Given the description of an element on the screen output the (x, y) to click on. 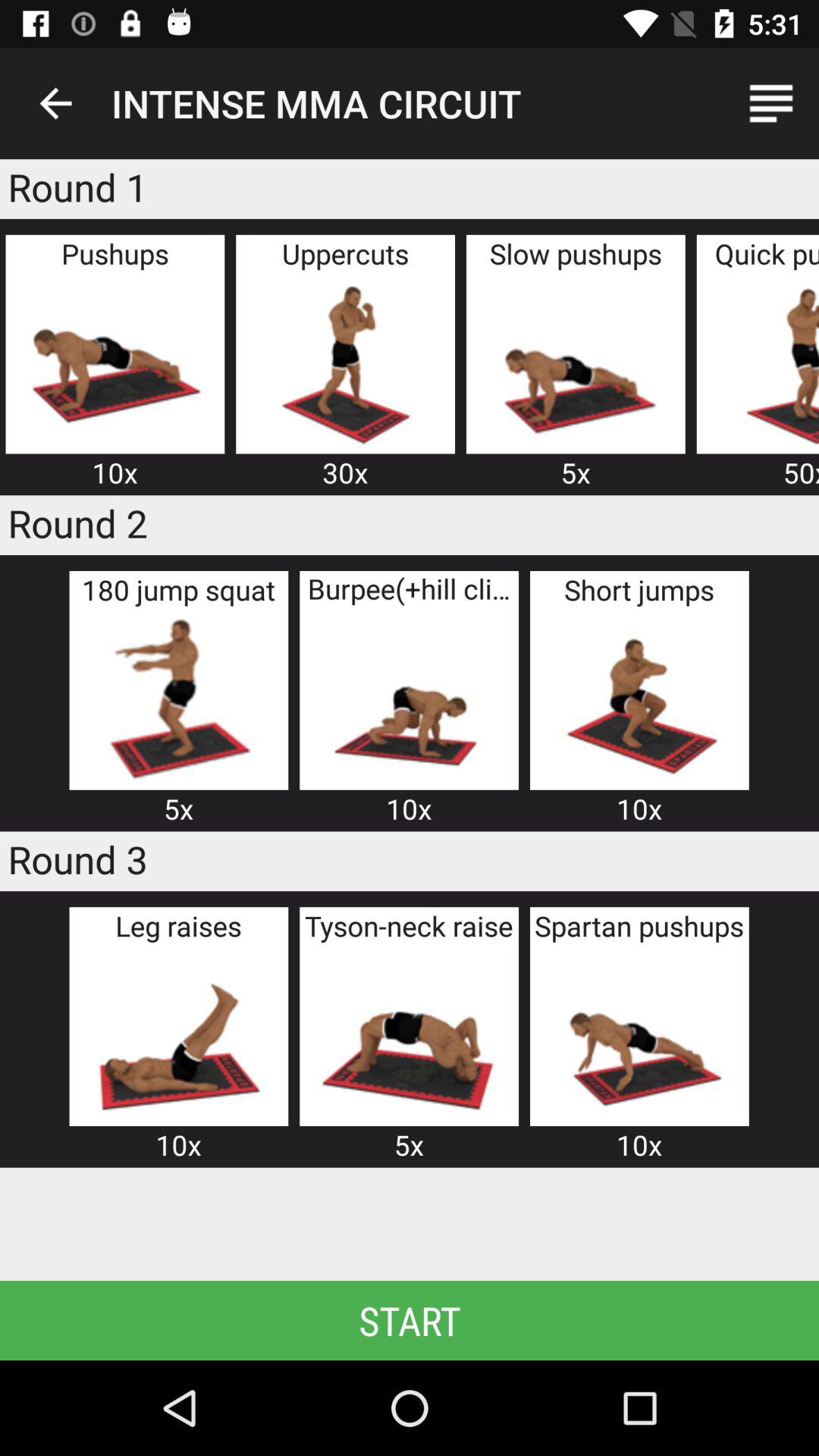
intense mma circuit 5k (178, 698)
